Given the description of an element on the screen output the (x, y) to click on. 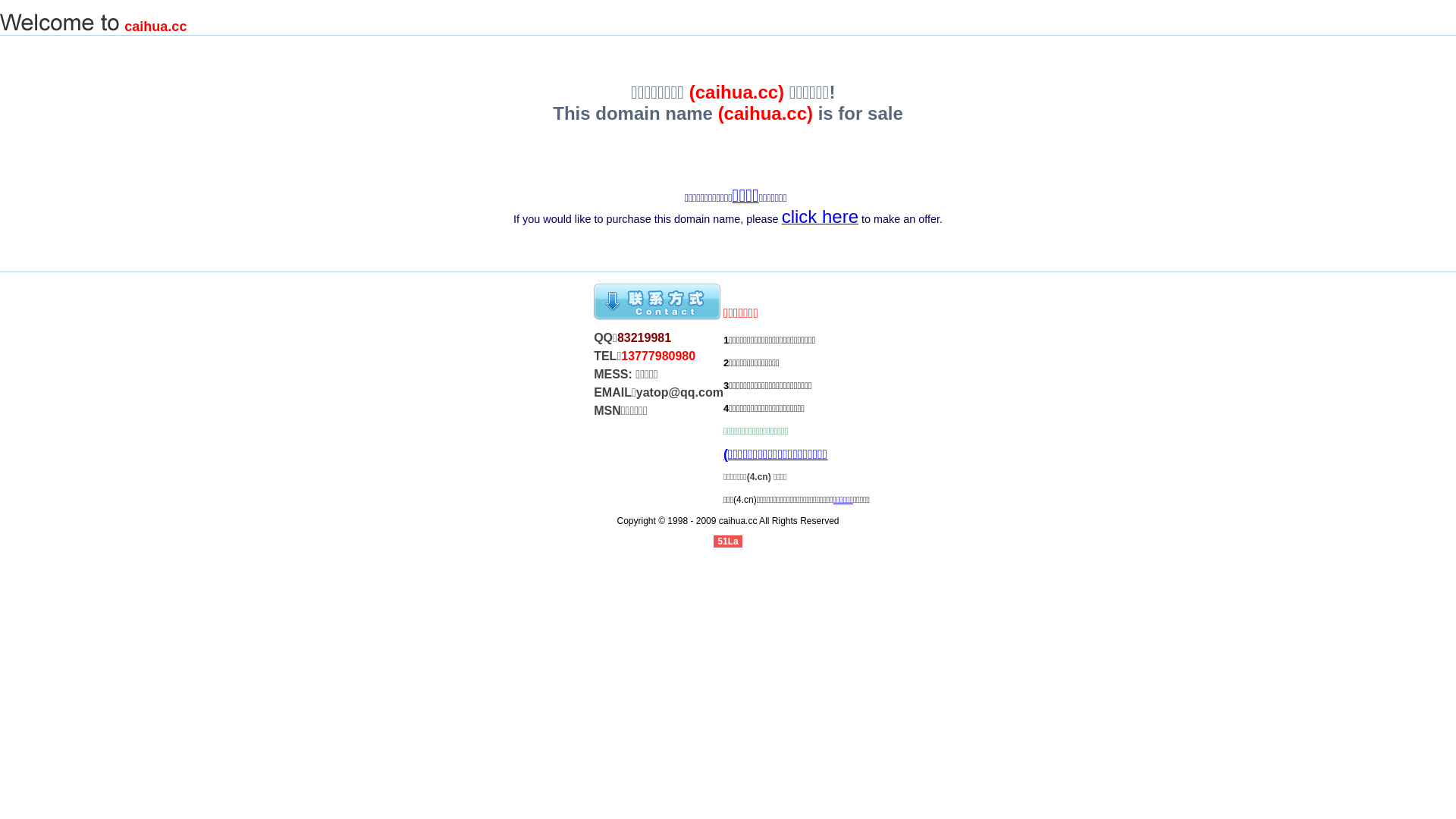
click here Element type: text (819, 219)
51La Element type: text (727, 541)
